Given the description of an element on the screen output the (x, y) to click on. 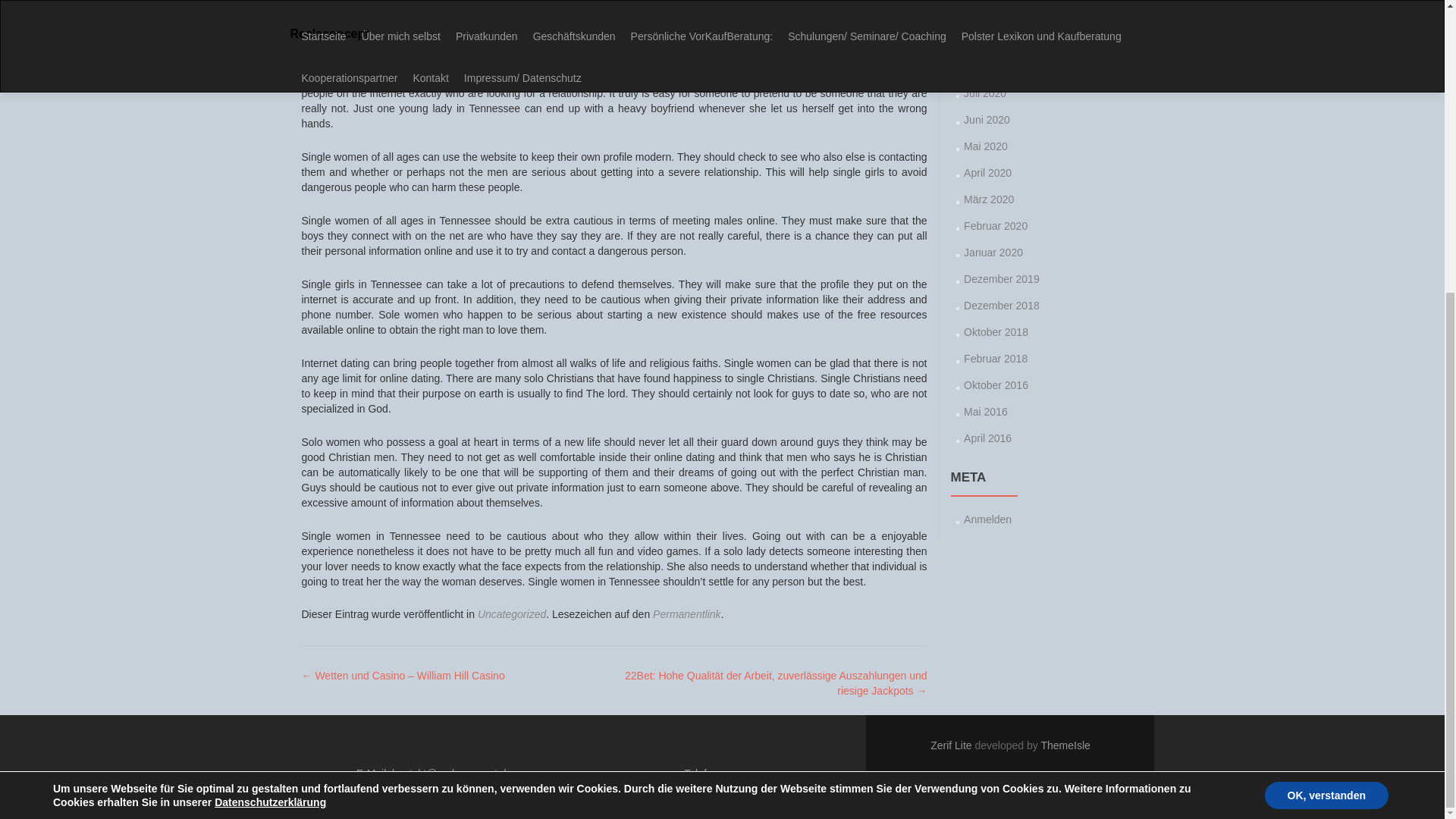
Permanentlink (686, 613)
Uncategorized (511, 613)
Dezember 2019 (1001, 278)
Mai 2020 (985, 146)
September 2020 (1002, 39)
Oktober 2020 (995, 13)
August 2020 (993, 66)
Februar 2020 (995, 225)
April 2020 (987, 173)
Januar 2020 (993, 252)
Juli 2020 (984, 92)
Juni 2020 (986, 119)
